Given the description of an element on the screen output the (x, y) to click on. 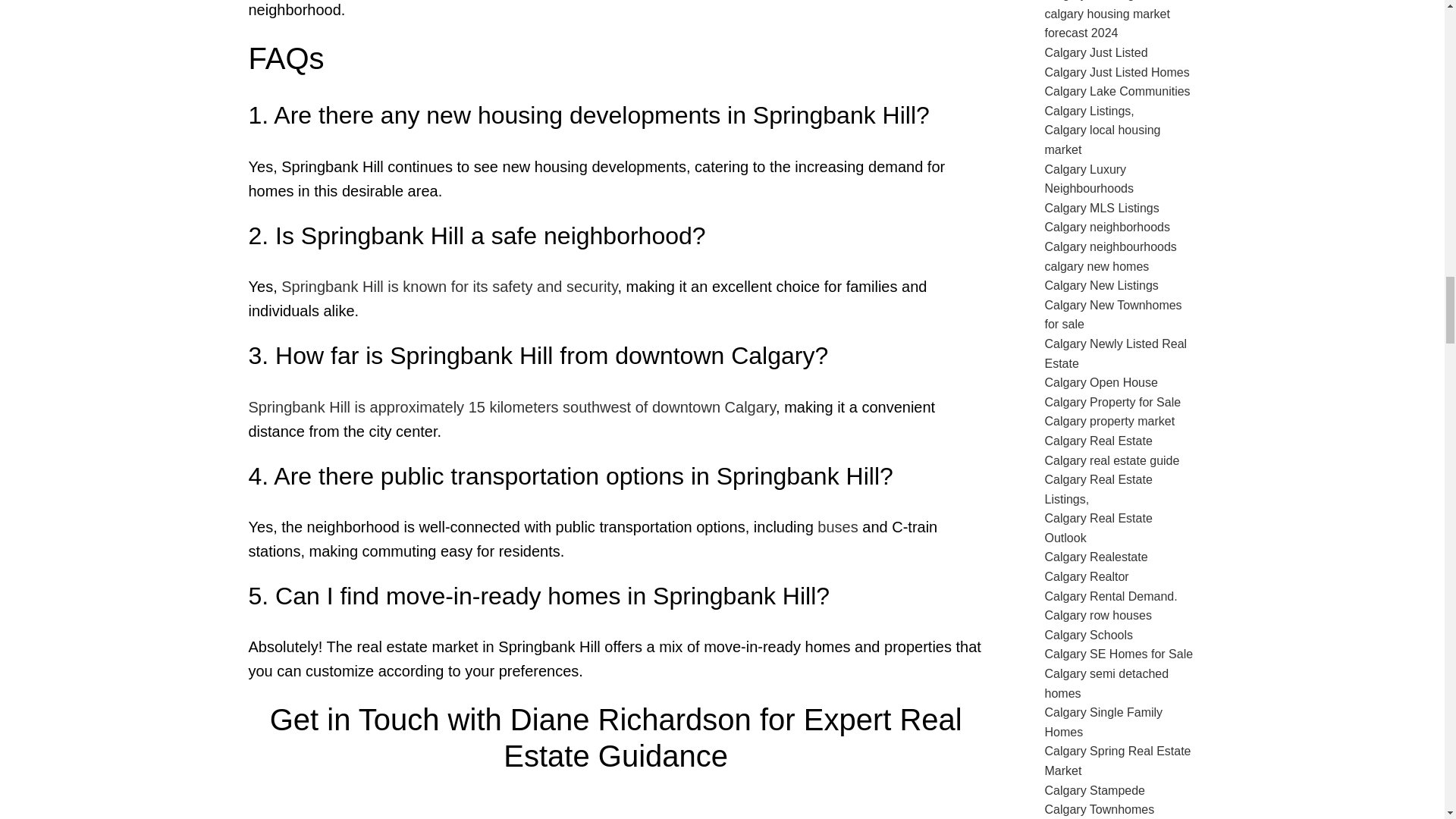
Calgary Police statistical reports (449, 286)
